Given the description of an element on the screen output the (x, y) to click on. 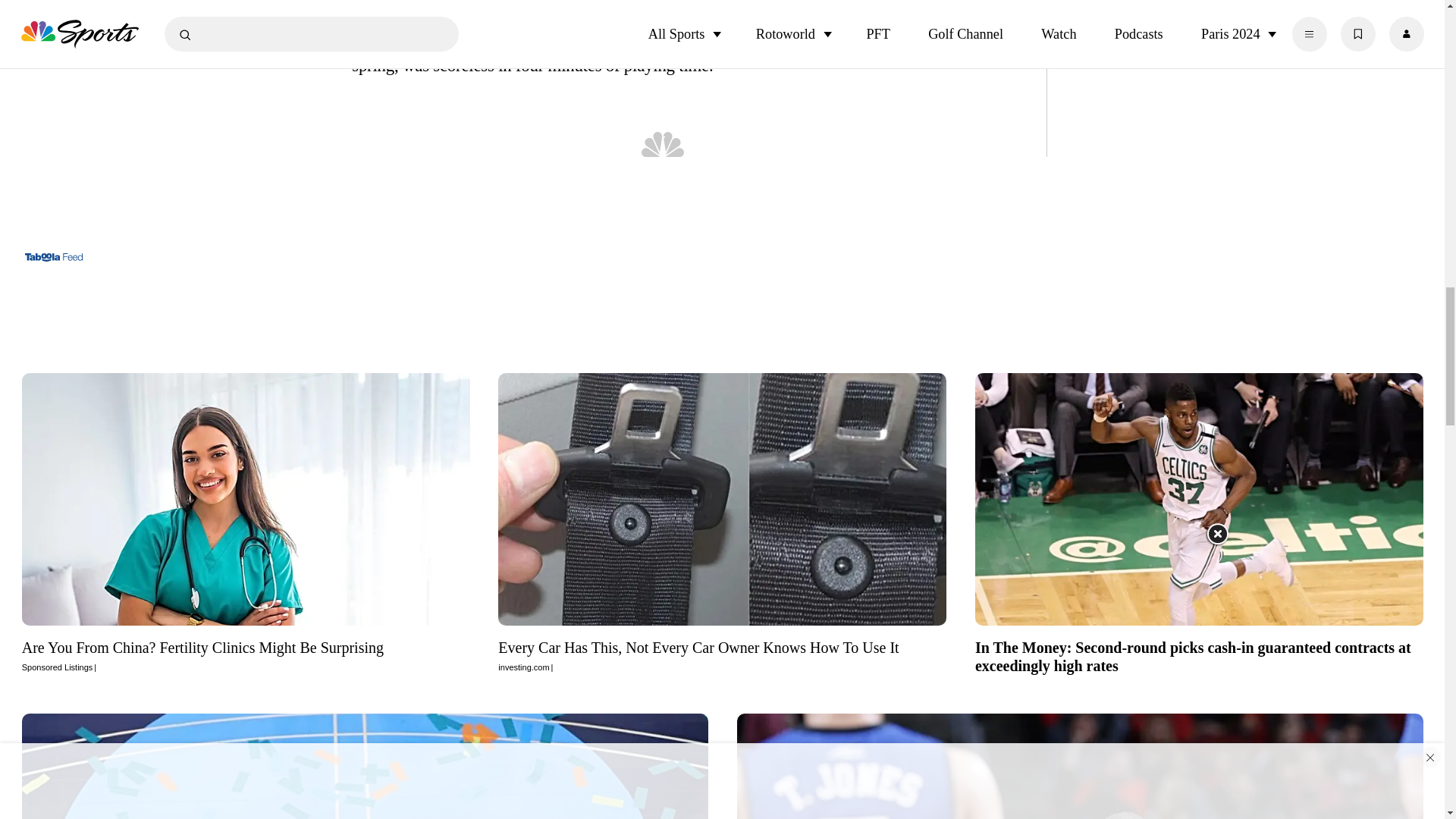
Every Car Has This, Not Every Car Owner Knows How To Use It (721, 498)
Every Car Has This, Not Every Car Owner Knows How To Use It (721, 655)
Report: Duke not currently investigating Rasheed Sulaimon (1079, 761)
Are You From China? Fertility Clinics Might Be Surprising (245, 655)
Are You From China? Fertility Clinics Might Be Surprising (245, 498)
